Given the description of an element on the screen output the (x, y) to click on. 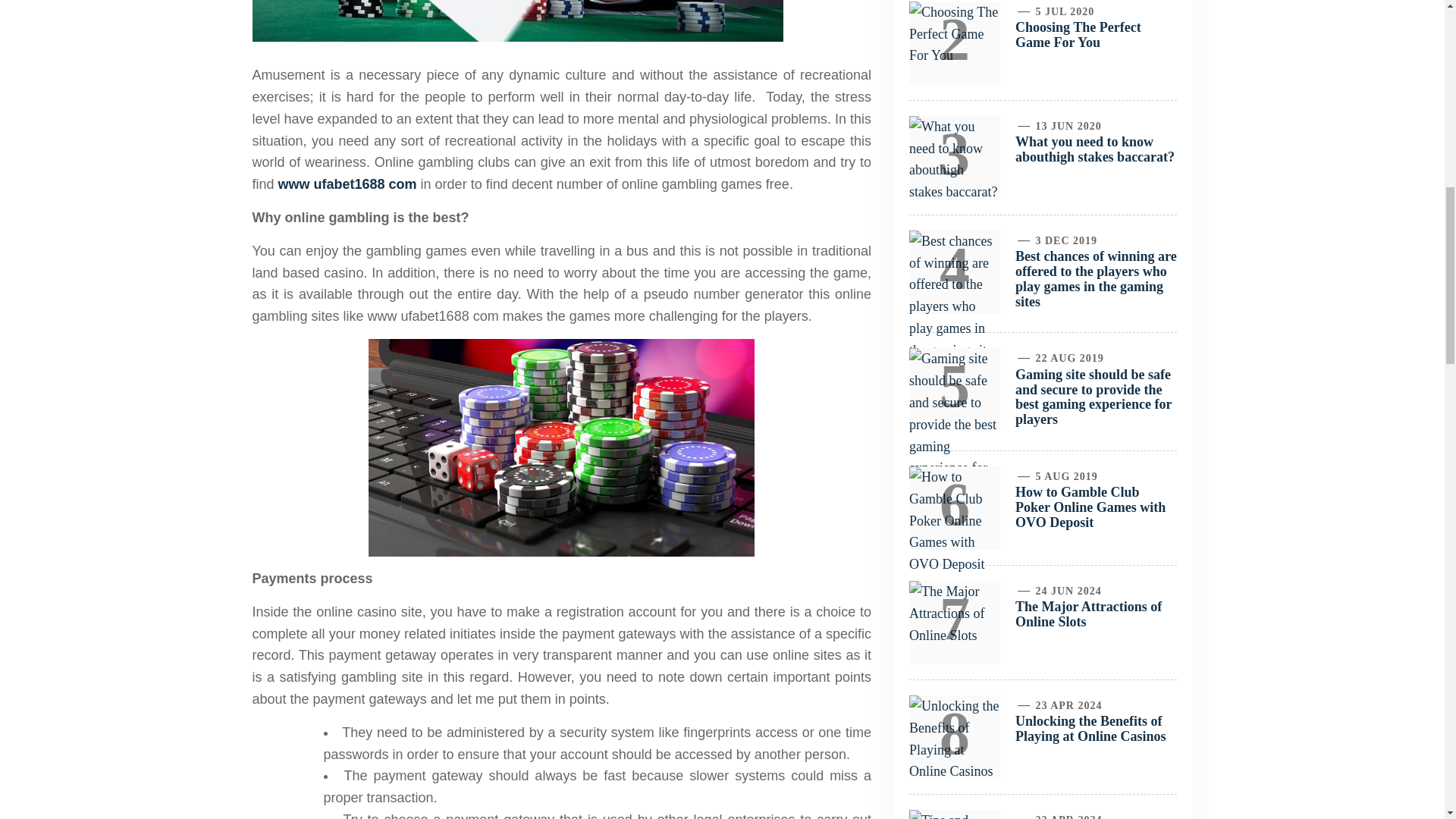
www ufabet1688 com (347, 183)
